Given the description of an element on the screen output the (x, y) to click on. 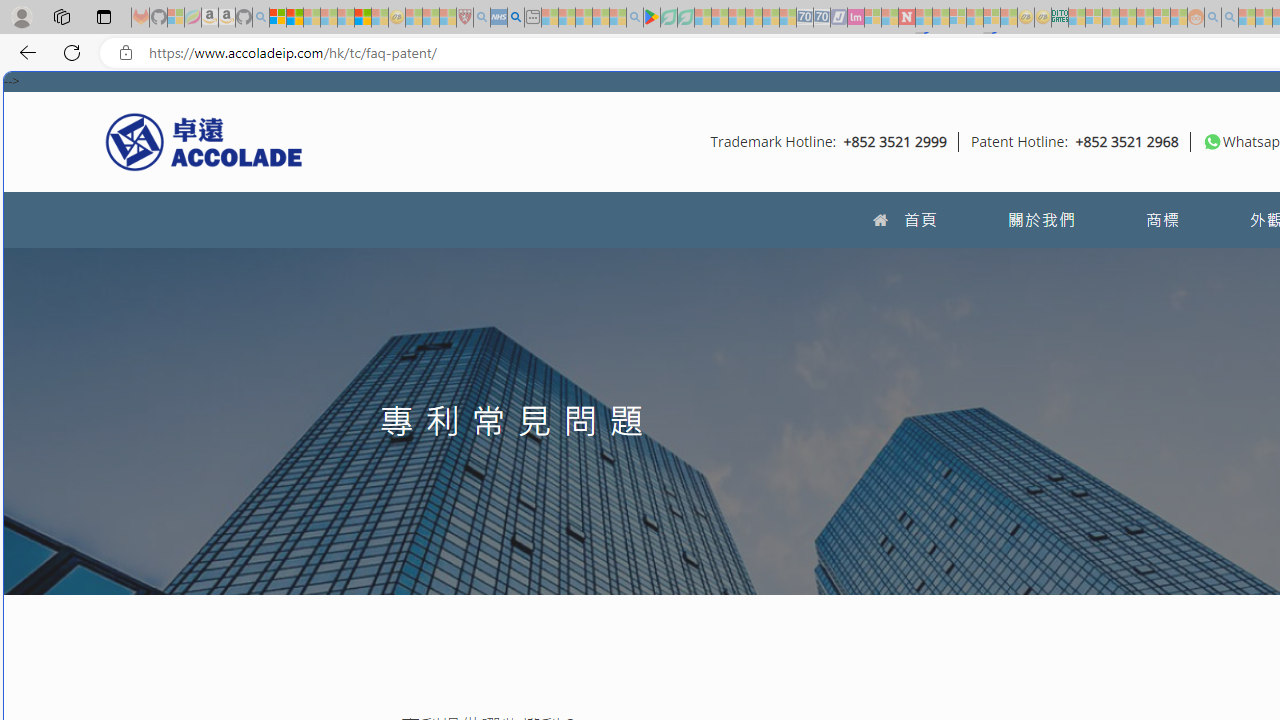
utah sues federal government - Search (515, 17)
Expert Portfolios - Sleeping (1128, 17)
